Given the description of an element on the screen output the (x, y) to click on. 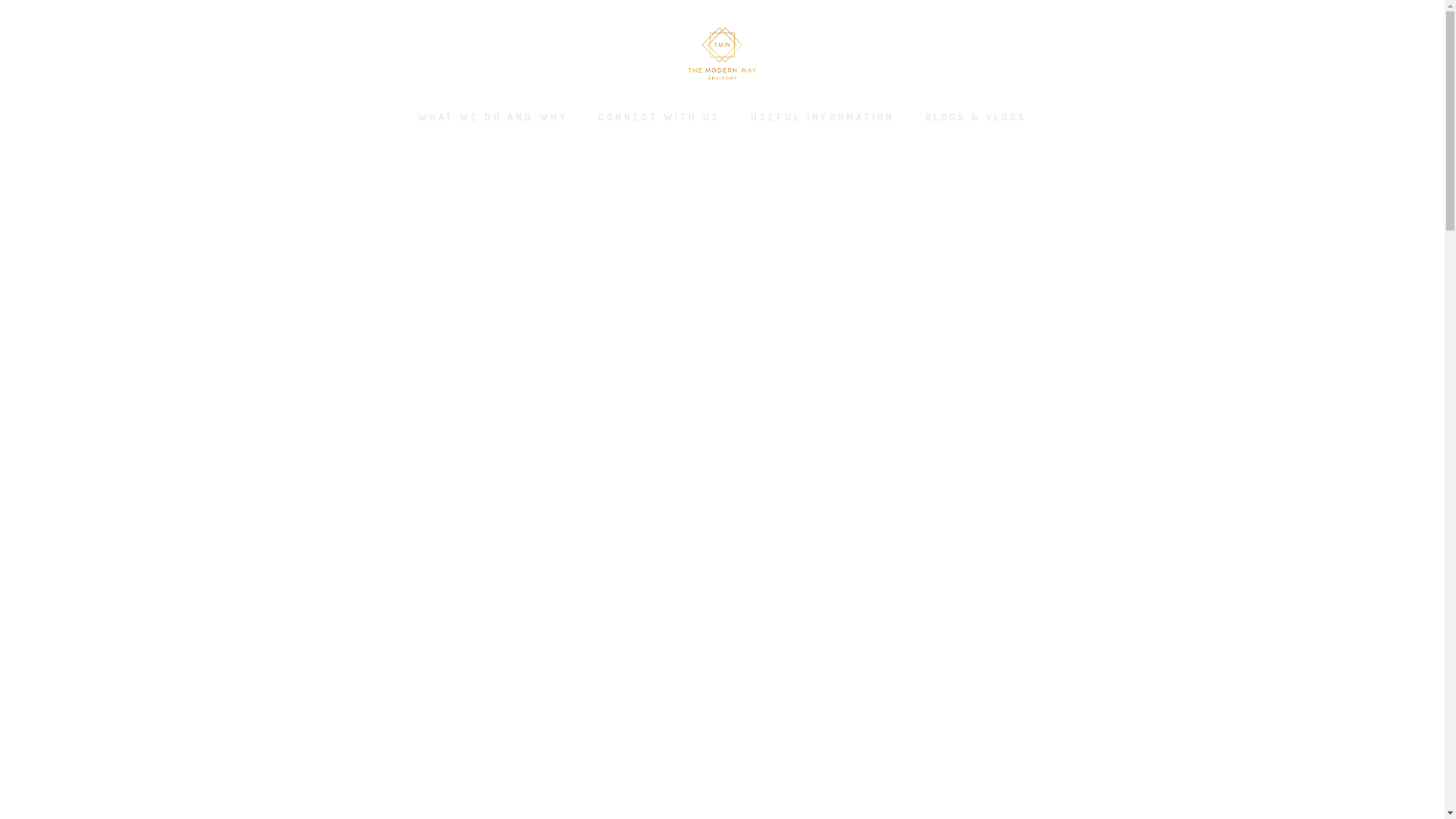
USEFUL INFORMATION Element type: text (822, 121)
BLOGS & VLOGS Element type: text (975, 121)
CONNECT WITH US Element type: text (659, 121)
WHAT WE DO AND WHY Element type: text (492, 121)
